Given the description of an element on the screen output the (x, y) to click on. 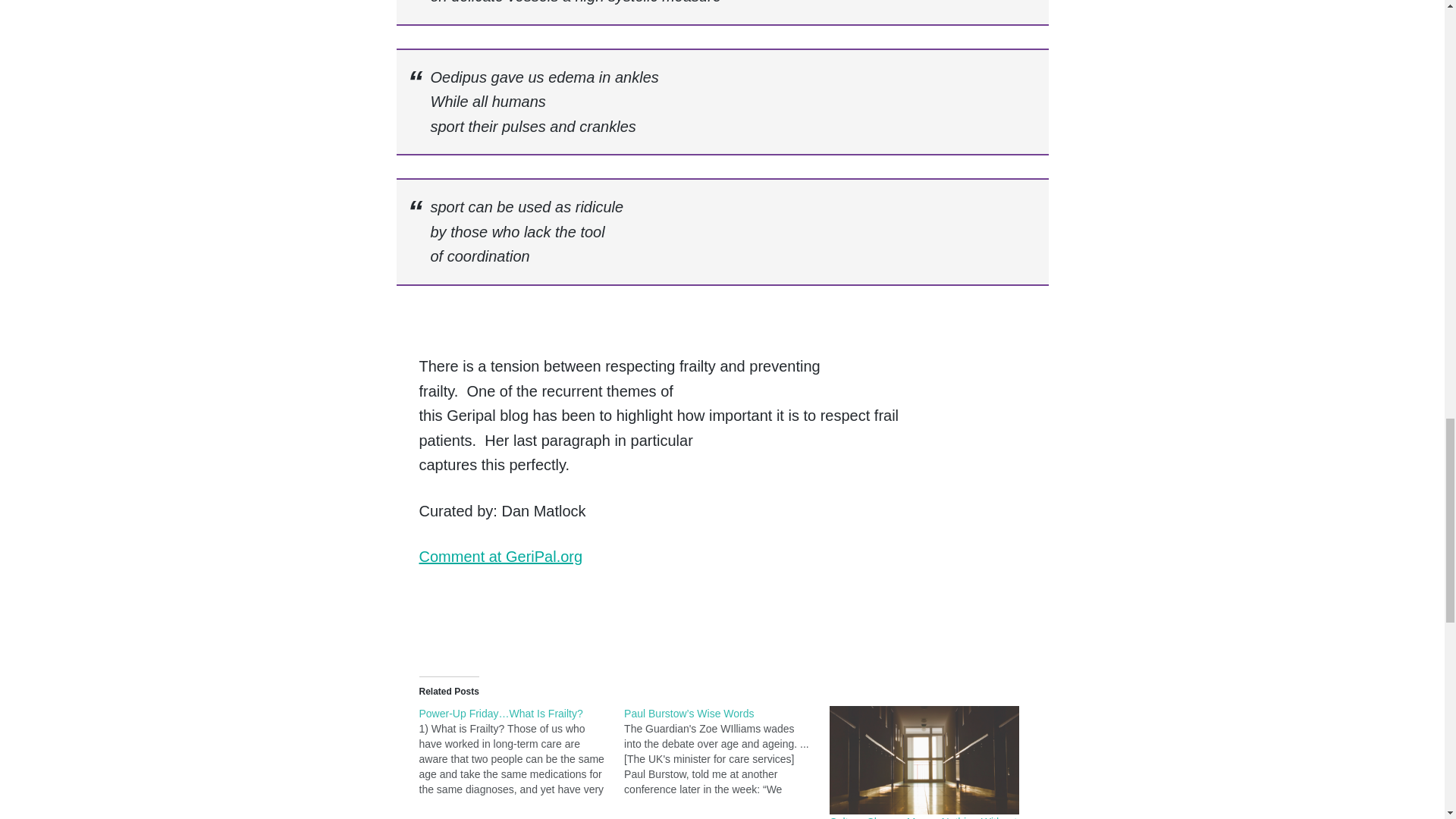
Culture Change Means Nothing Without This (924, 759)
Culture Change Means Nothing Without This (922, 817)
Culture Change Means Nothing Without This (922, 817)
Comment at GeriPal.org (500, 556)
